Given the description of an element on the screen output the (x, y) to click on. 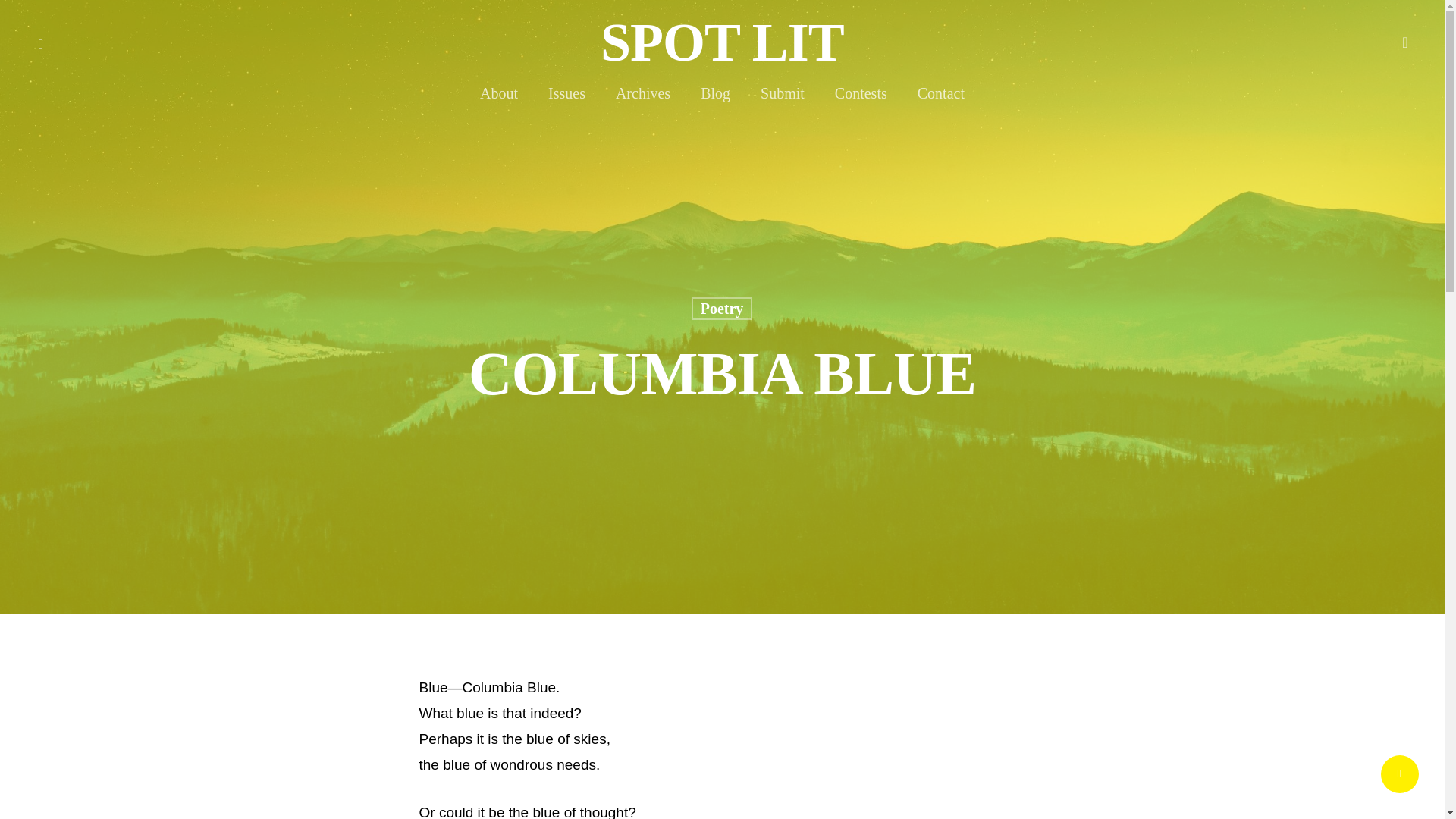
Blog (715, 101)
Submit (782, 101)
search (1404, 42)
About (499, 101)
Archives (642, 101)
Contact (940, 101)
Contests (860, 101)
SPOT LIT (721, 42)
Poetry (721, 312)
Issues (566, 101)
twitter (41, 42)
